Given the description of an element on the screen output the (x, y) to click on. 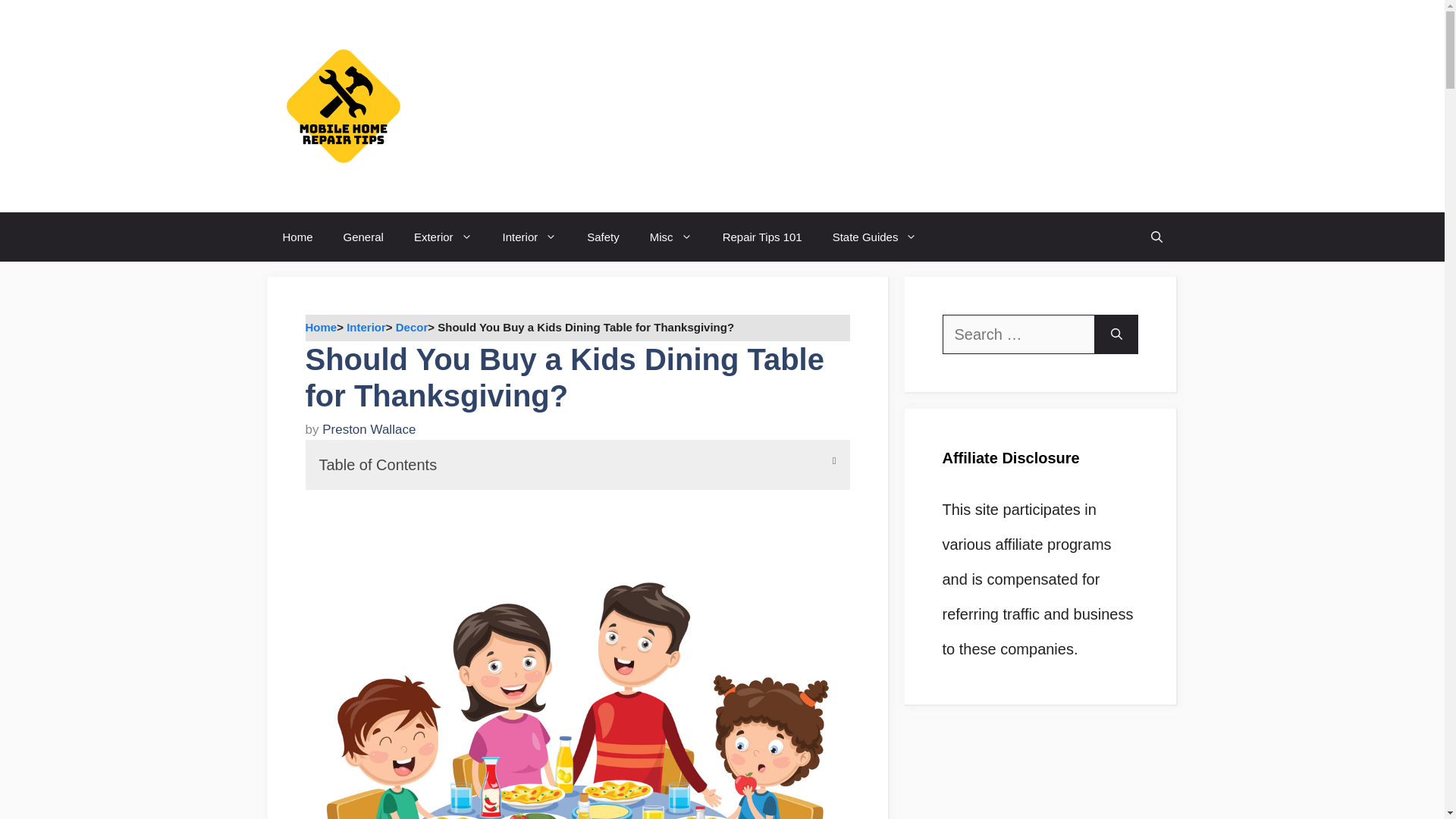
View all posts by Preston Wallace (367, 429)
Go to the Interior Category archives. (365, 327)
Go to Home. (320, 327)
Go to the Decor Category archives. (412, 327)
Exterior (442, 236)
Search for: (1018, 333)
General (363, 236)
Home (296, 236)
Interior (529, 236)
